Given the description of an element on the screen output the (x, y) to click on. 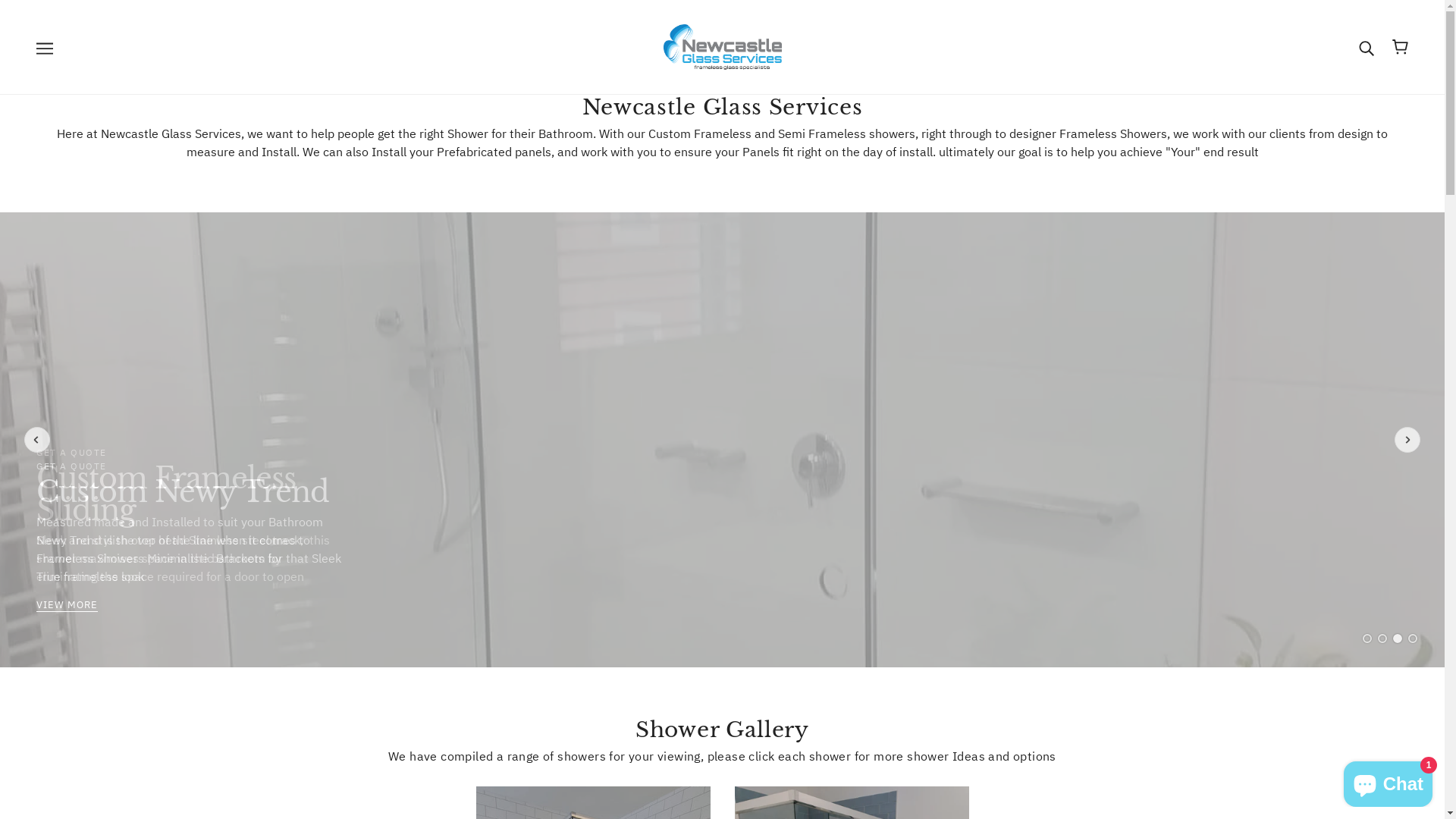
VIEW MORE Element type: text (66, 605)
newcastle-glass-services Element type: hover (721, 45)
Shopify online store chat Element type: hover (1388, 780)
